Given the description of an element on the screen output the (x, y) to click on. 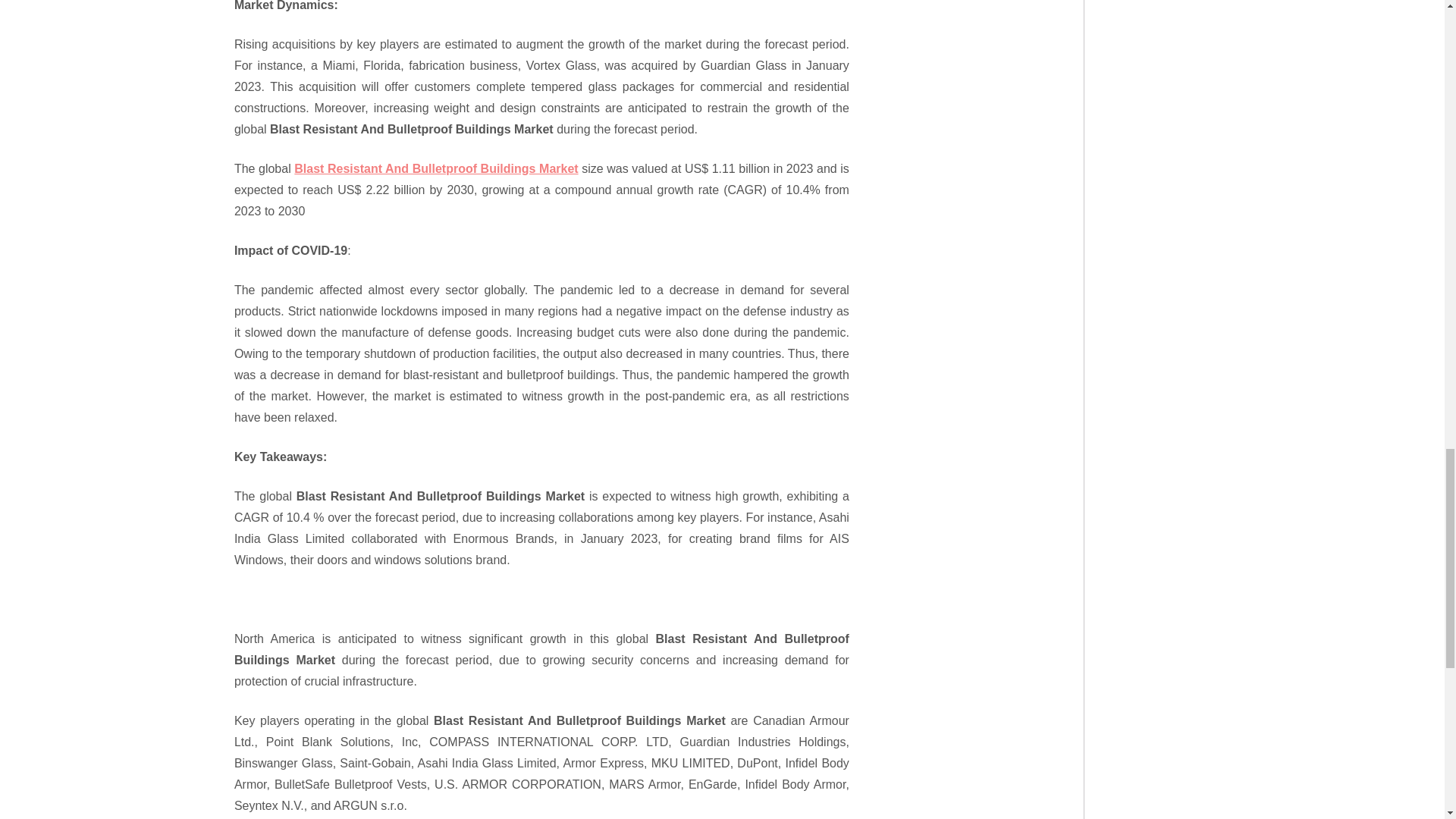
Blast Resistant And Bulletproof Buildings Market (436, 168)
